Given the description of an element on the screen output the (x, y) to click on. 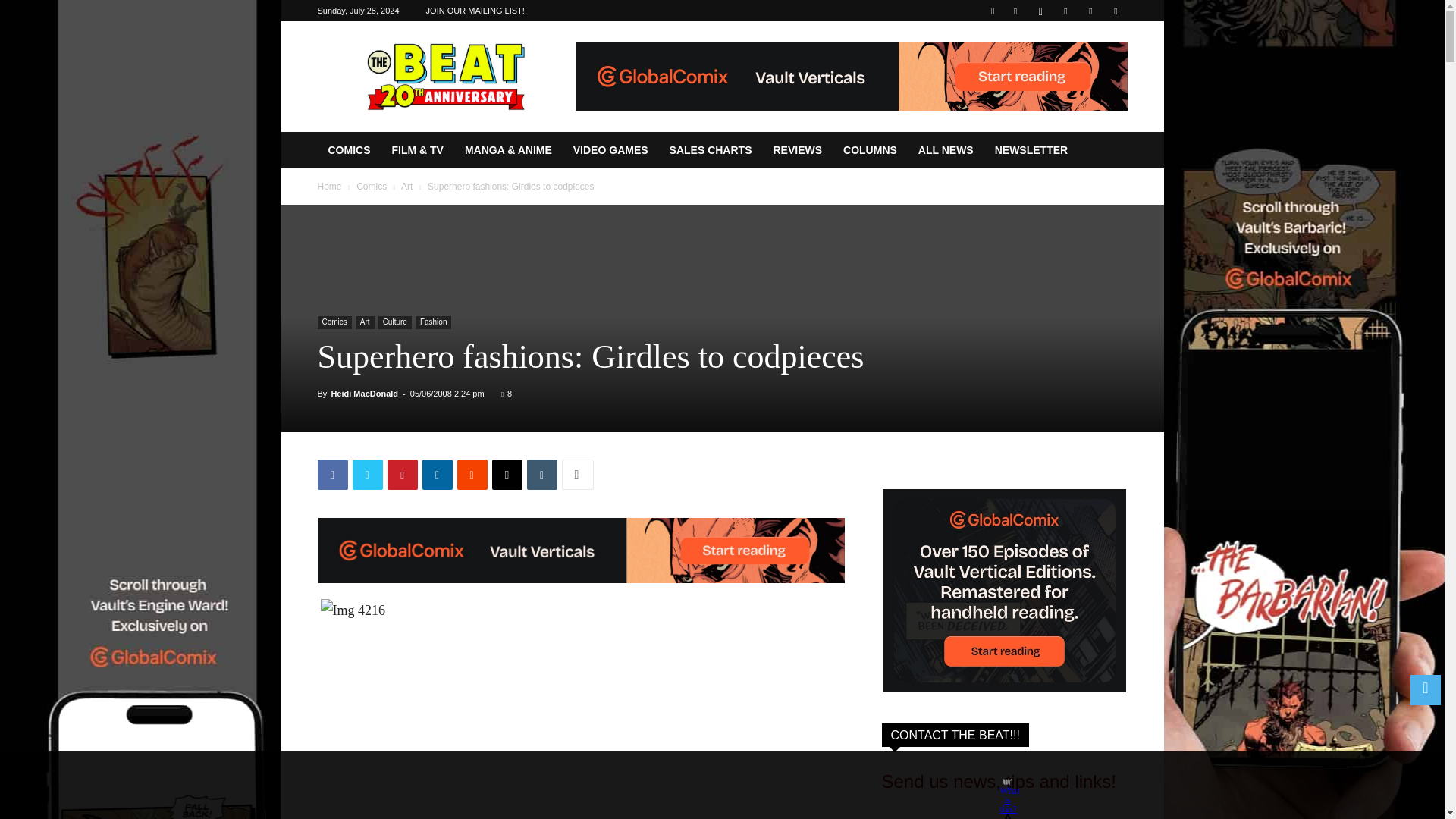
View all posts in Comics (371, 185)
Youtube (1114, 10)
Search (1085, 64)
RSS (1065, 10)
NEWSLETTER (1031, 149)
JOIN OUR MAILING LIST! (475, 10)
SALES CHARTS (710, 149)
Facebook (1015, 10)
Facebook (332, 474)
ALL NEWS (945, 149)
Twitter (366, 474)
VIDEO GAMES (610, 149)
COMICS (348, 149)
Twitter (1090, 10)
Instagram (1040, 10)
